Given the description of an element on the screen output the (x, y) to click on. 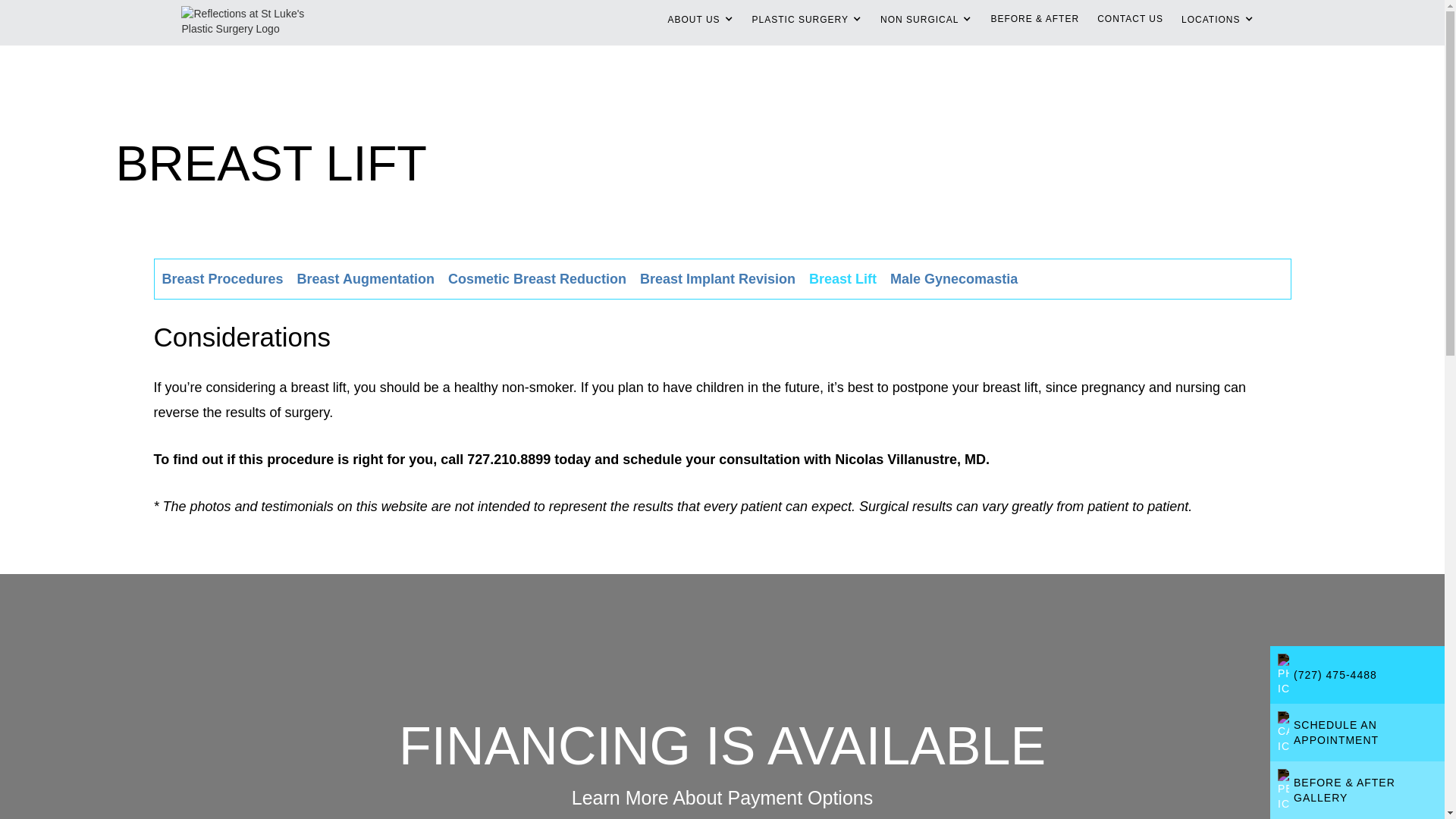
CONTACT US (1129, 19)
Breast Augmentation (365, 278)
Click to Learn More About Financing (806, 19)
Breast Implant Revision (365, 278)
LOCATIONS (717, 278)
Cosmetic Breast Reduction (1217, 19)
